Given the description of an element on the screen output the (x, y) to click on. 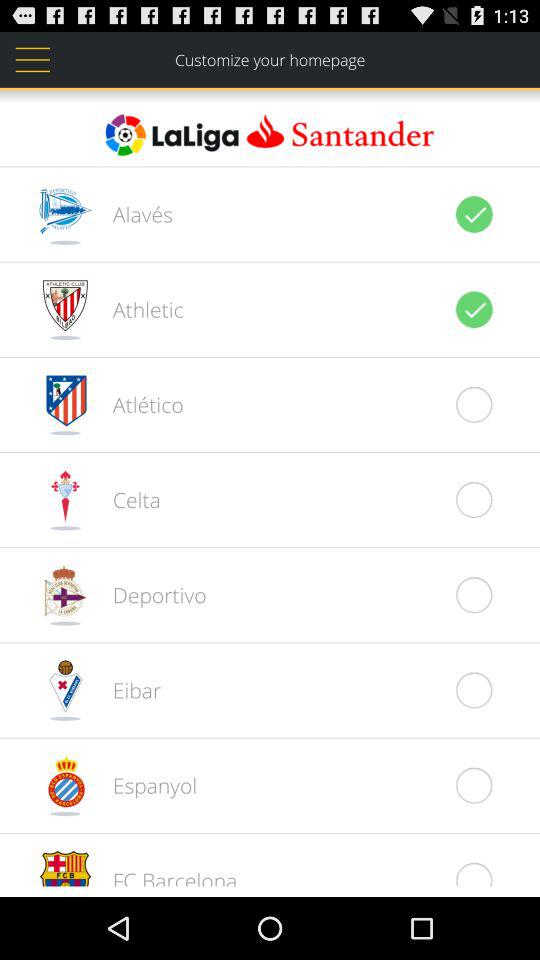
jump until deportivo (148, 594)
